Given the description of an element on the screen output the (x, y) to click on. 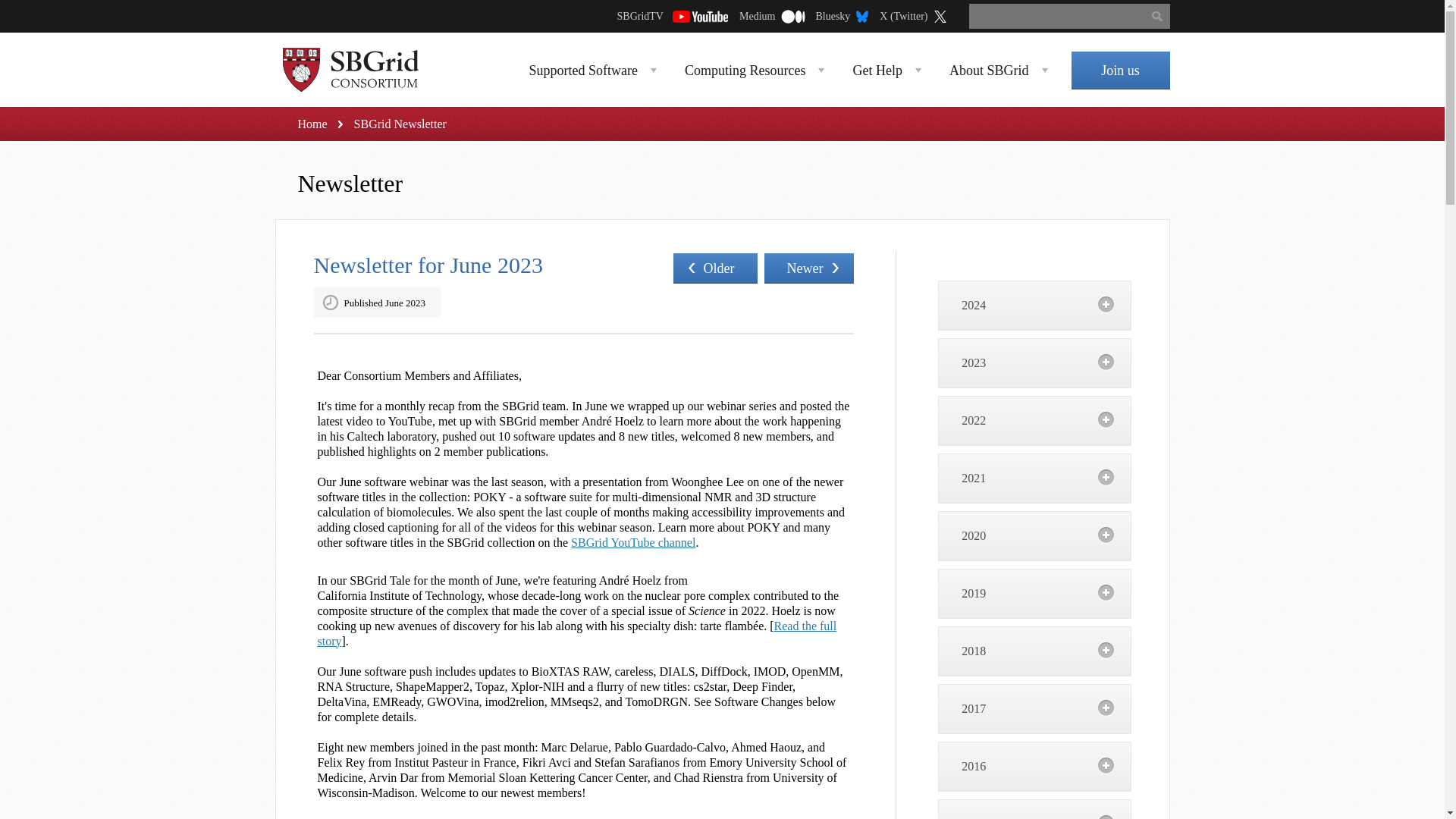
Newer (808, 268)
Supported Software (587, 69)
Medium (774, 12)
Bluesky (841, 16)
Home (319, 123)
Get Help (881, 69)
About SBGrid (993, 69)
Join us (1119, 70)
Computing Resources (748, 69)
Older (714, 268)
